Given the description of an element on the screen output the (x, y) to click on. 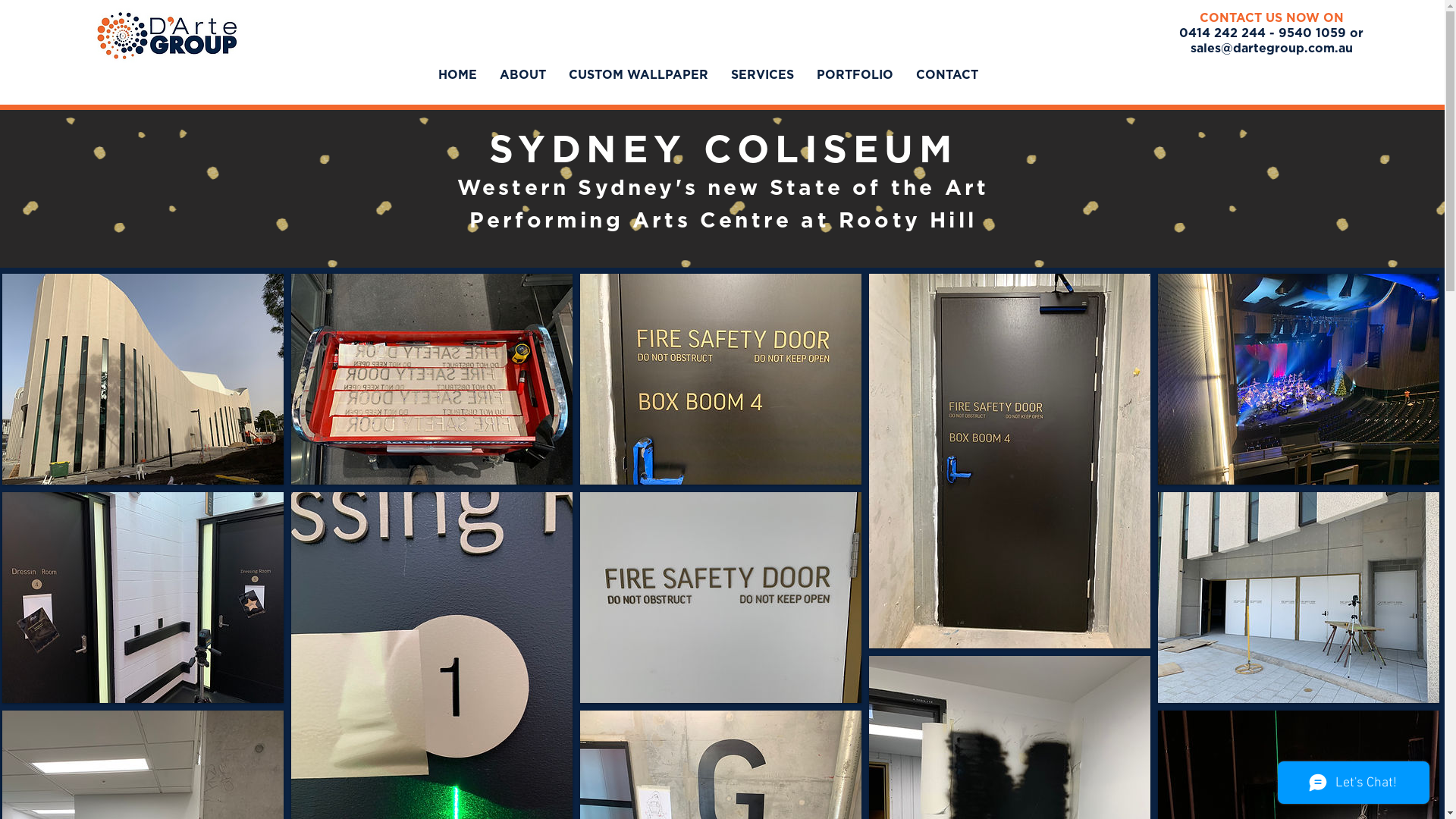
CONTACT Element type: text (945, 75)
PORTFOLIO Element type: text (854, 75)
HOME Element type: text (456, 75)
0414 242 244 - 9540 1059 or sales@dartegroup.com.au Element type: text (1271, 41)
CONTACT US NOW ON Element type: text (1271, 18)
ABOUT Element type: text (522, 75)
SERVICES Element type: text (761, 75)
CUSTOM WALLPAPER Element type: text (637, 75)
BLUE_LOGO.png Element type: hover (166, 33)
